Given the description of an element on the screen output the (x, y) to click on. 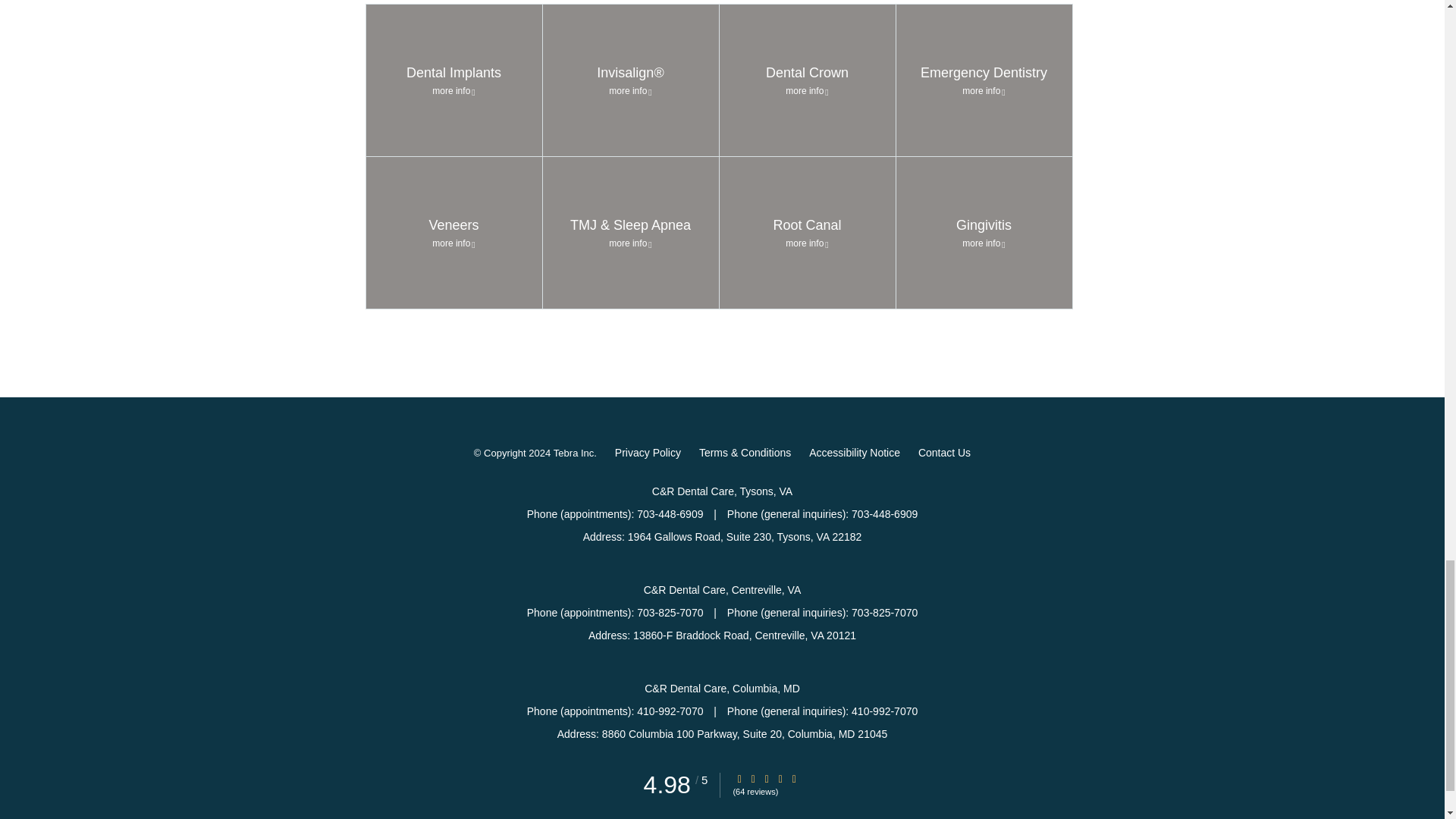
Star Rating (753, 778)
Star Rating (766, 778)
Star Rating (453, 232)
Star Rating (780, 778)
Star Rating (738, 778)
